Given the description of an element on the screen output the (x, y) to click on. 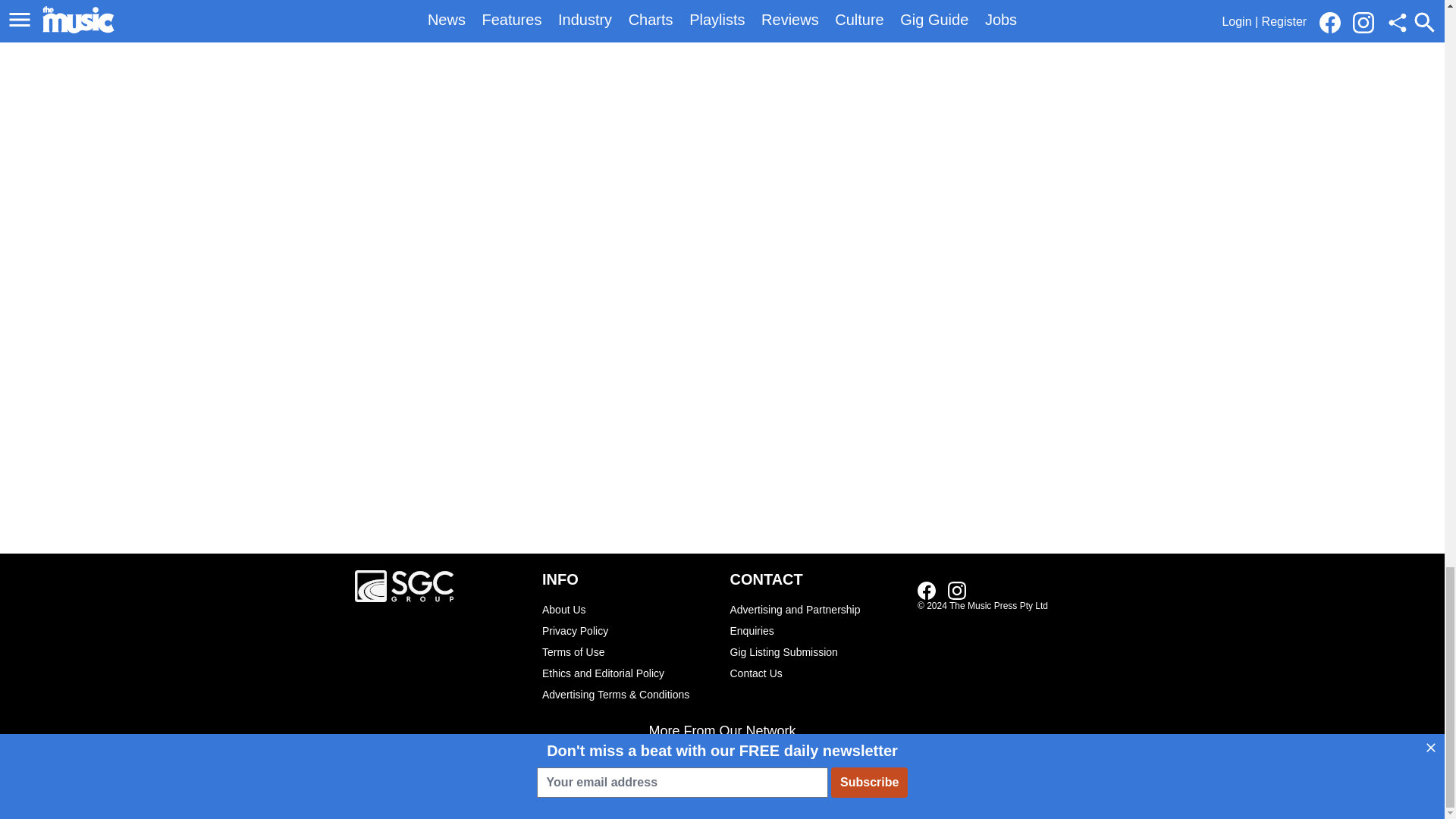
Gig Listing Submission (815, 651)
Terms of Use (627, 651)
Ethics and Editorial Policy (627, 672)
Link to our Facebook (926, 590)
Privacy Policy (627, 630)
Advertising and Partnership Enquiries (815, 619)
About Us (627, 608)
Link to our Instagram (956, 590)
